Given the description of an element on the screen output the (x, y) to click on. 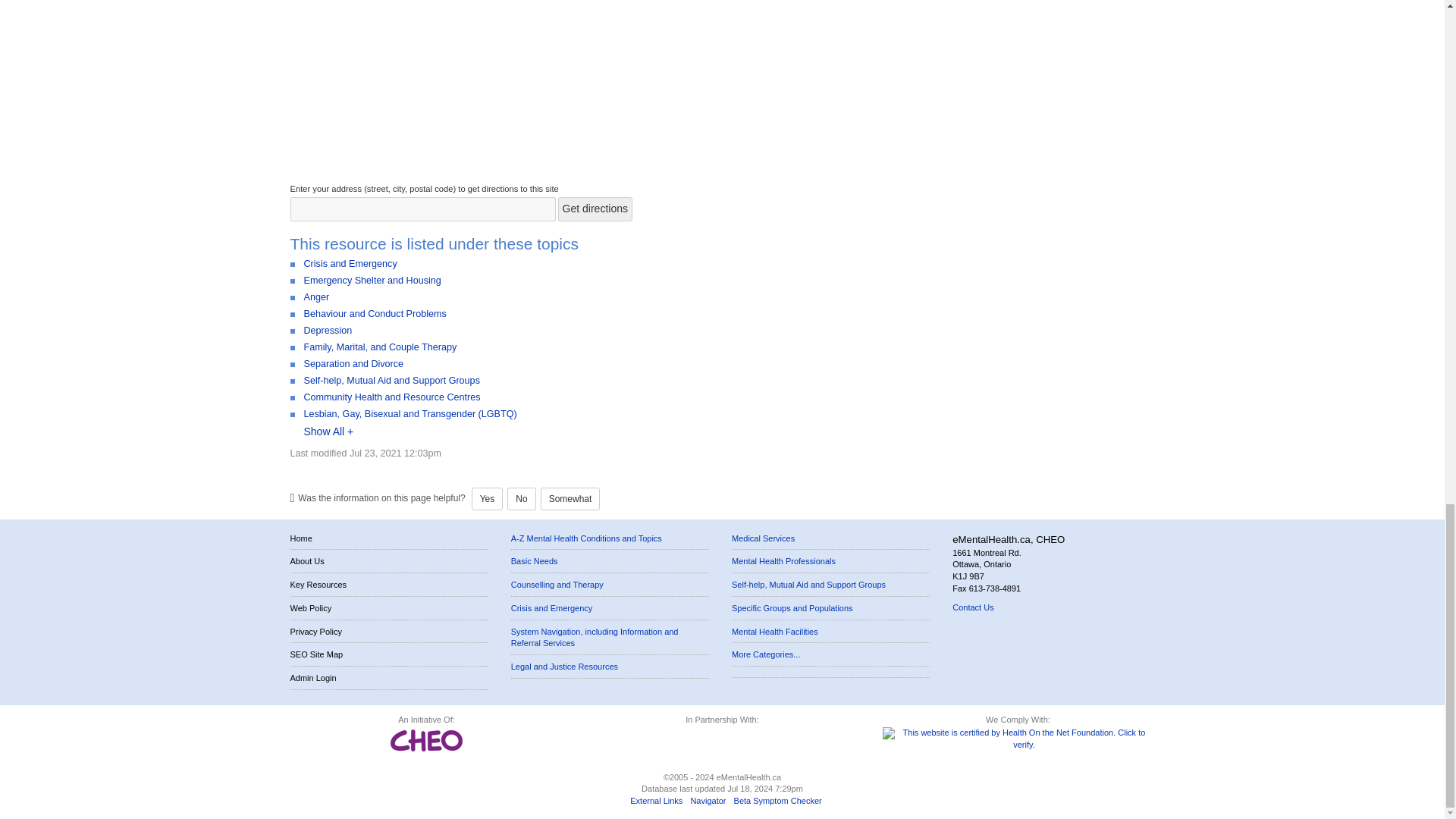
No (520, 498)
Somewhat (569, 498)
Yes (487, 498)
Get directions (594, 209)
